Given the description of an element on the screen output the (x, y) to click on. 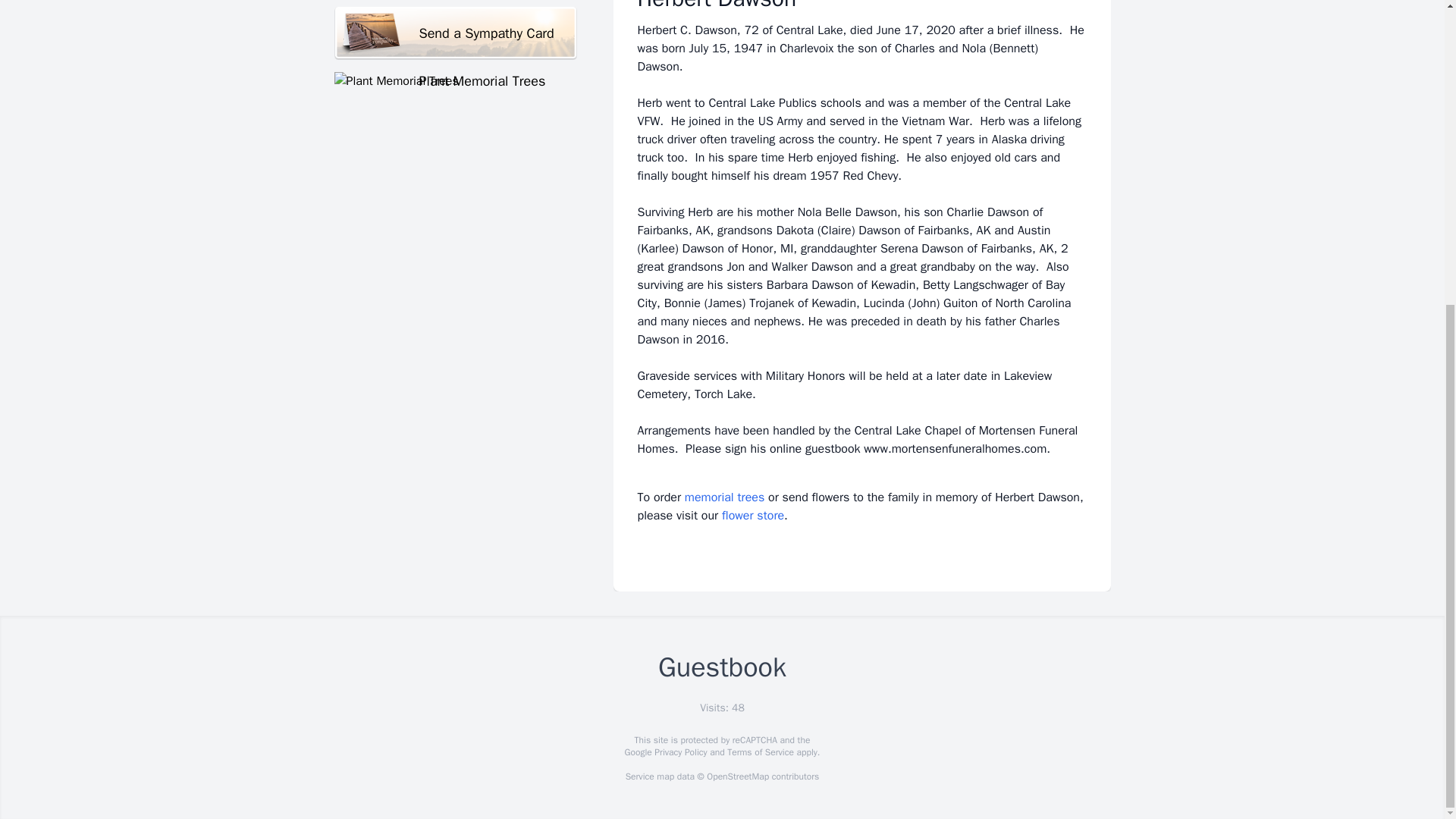
Plant Memorial Trees (454, 81)
flower store (753, 515)
memorial trees (724, 497)
OpenStreetMap (737, 776)
Send a Sympathy Card (454, 33)
Privacy Policy (679, 752)
Terms of Service (759, 752)
